Given the description of an element on the screen output the (x, y) to click on. 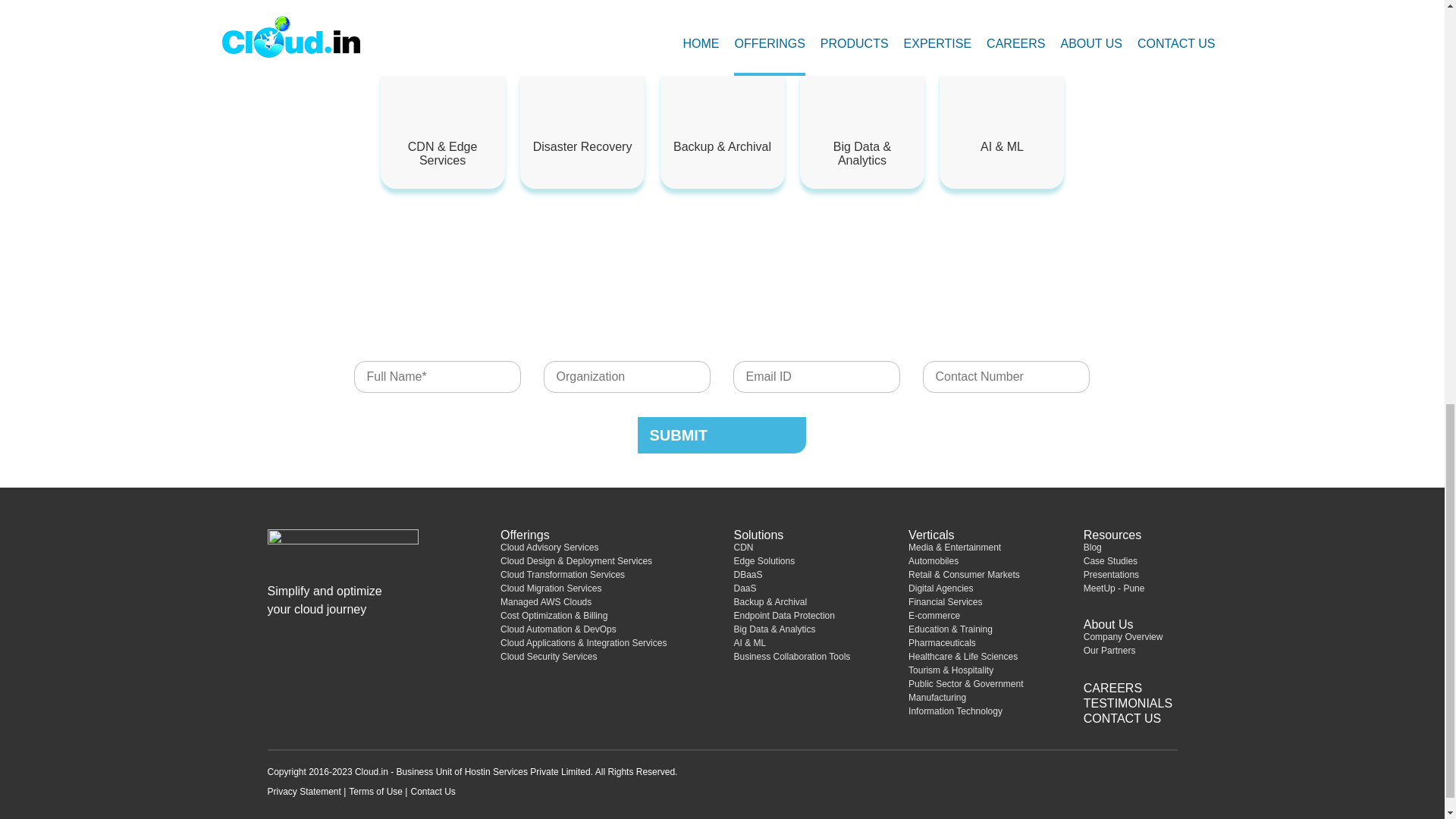
Disaster Recovery (581, 114)
Cloud Migration Services (550, 588)
Managed AWS Clouds (545, 602)
DBaaS (747, 574)
Migration Services (651, 6)
Billing Services (932, 6)
Cloud Advisory Services (549, 547)
Endpoint Data Protection (783, 615)
Managed Services (792, 6)
Cloud Transformation Services (562, 574)
DaaS (744, 588)
Cloud Security Services (548, 656)
SUBMIT (721, 434)
CDN (742, 547)
Consulting Services (513, 13)
